Given the description of an element on the screen output the (x, y) to click on. 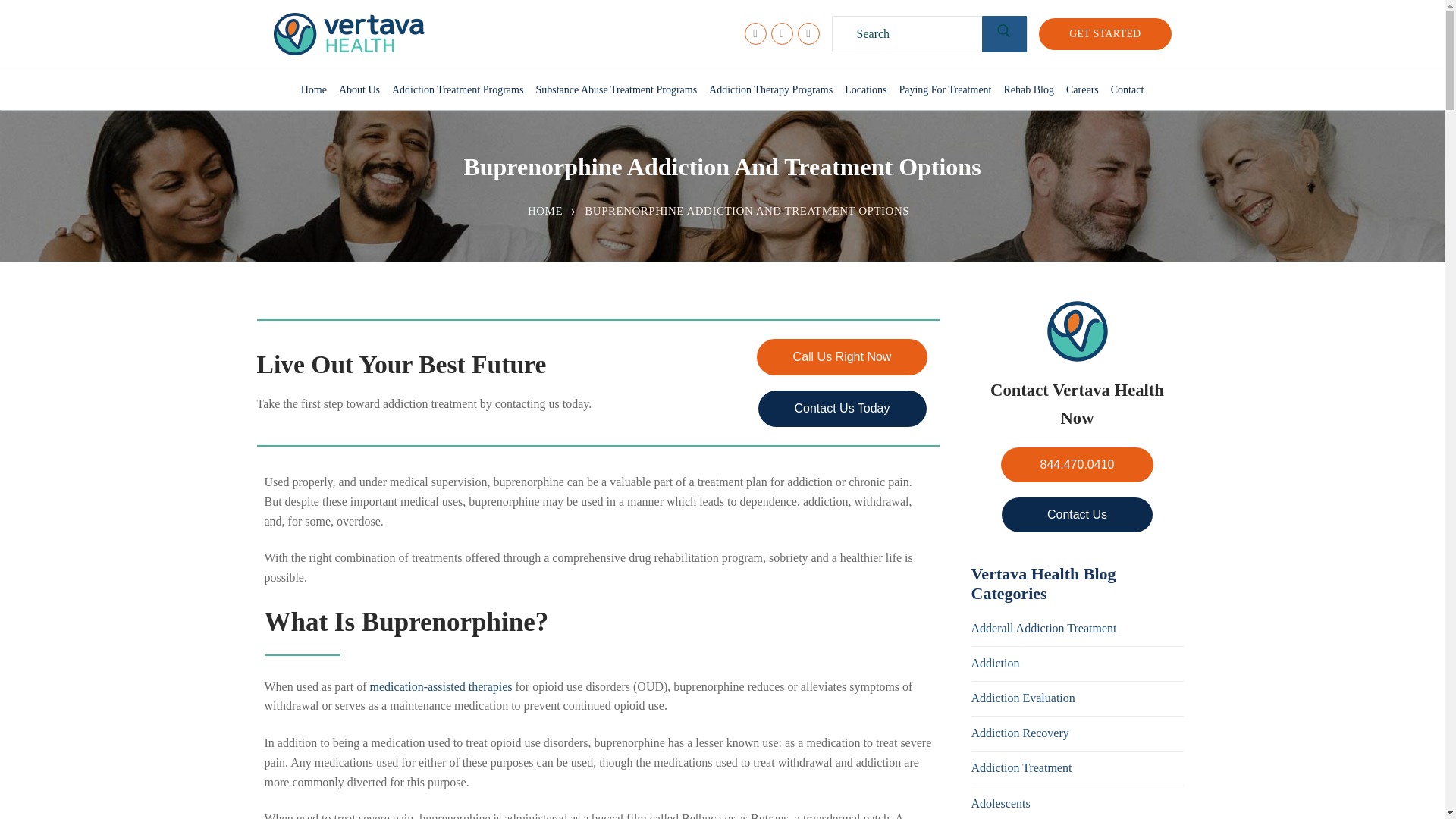
Instagram (781, 33)
About Us (359, 90)
Addiction Treatment Programs (457, 90)
LinkedIn (808, 33)
vertava health bullet logo (1076, 331)
Facebook (755, 33)
GET STARTED (1104, 33)
Home (314, 90)
Search for: (929, 33)
